Given the description of an element on the screen output the (x, y) to click on. 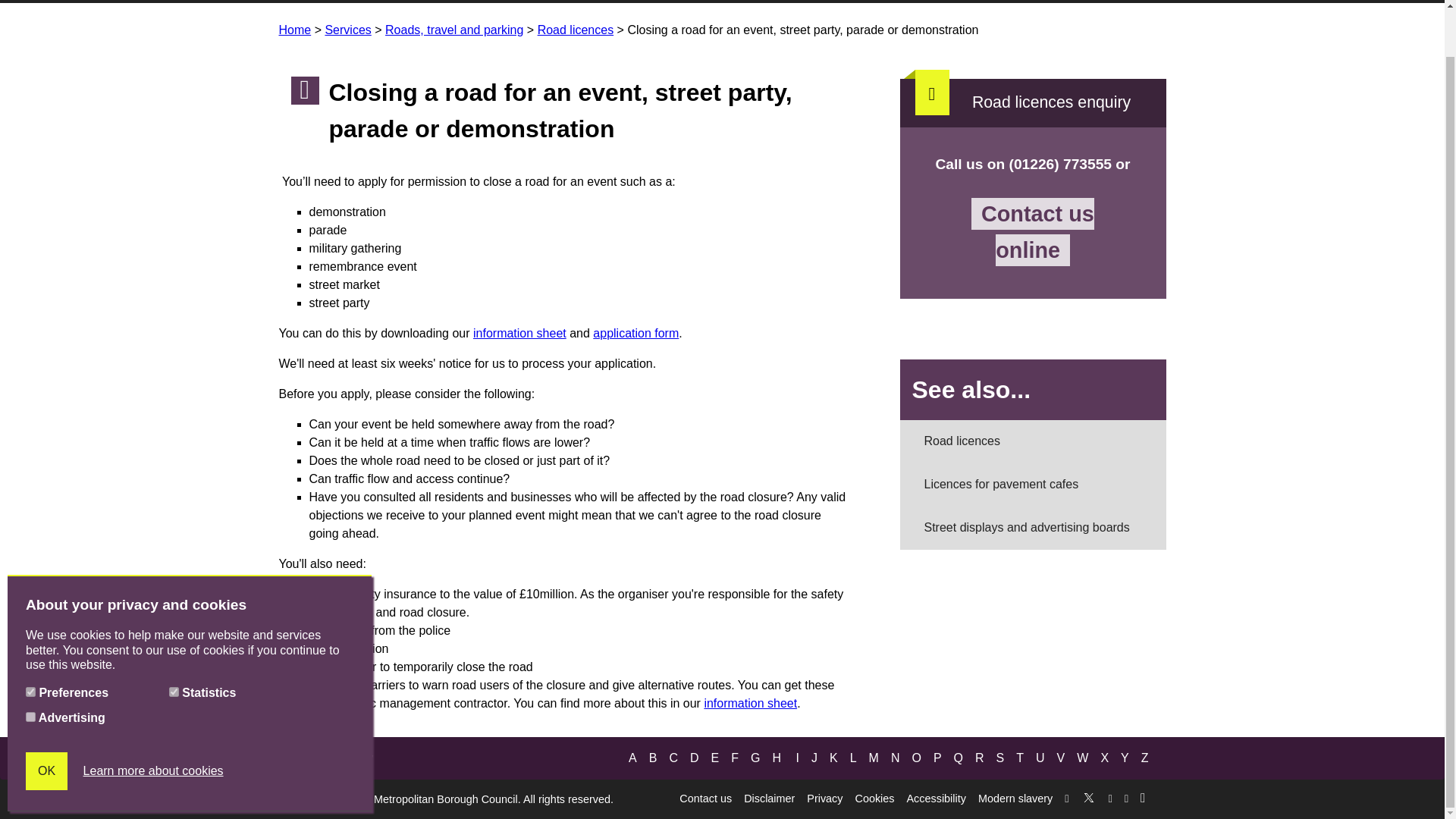
Services (347, 29)
Street displays and advertising boards (1032, 527)
True (30, 642)
Roads, travel and parking (453, 29)
D (694, 758)
H (776, 758)
F (734, 758)
True (30, 666)
B (653, 758)
True (173, 642)
